Given the description of an element on the screen output the (x, y) to click on. 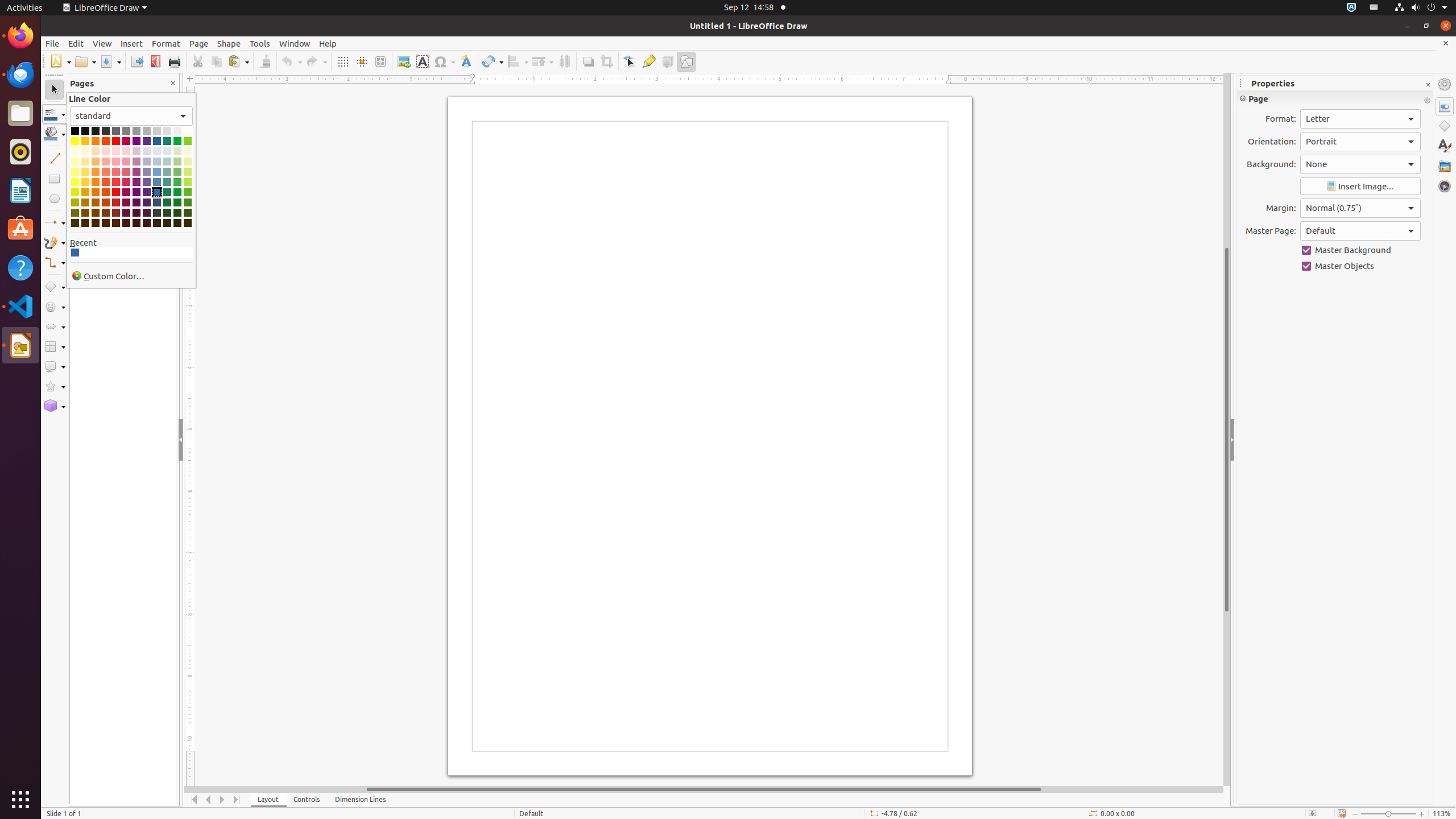
Zoom & Pan Element type: push-button (379, 61)
Dark Lime 3 Element type: list-item (187, 212)
Dark Green 2 Element type: list-item (177, 202)
Orange Element type: list-item (95, 140)
Dark Orange 3 Element type: list-item (95, 212)
